Given the description of an element on the screen output the (x, y) to click on. 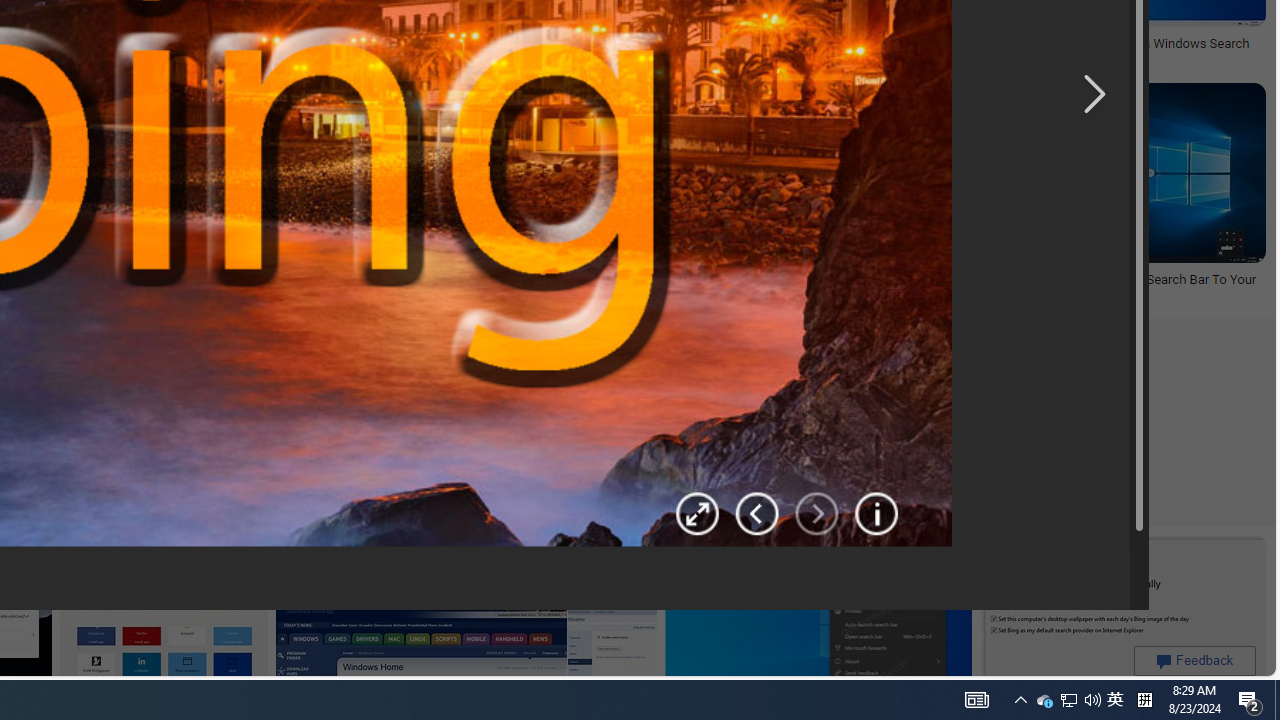
How to install Bing with ChatGPT as an app on Windows 11 (779, 43)
How to Use Bing Visual Search on Windows Search Bar (1106, 52)
Image result for Bing Search Bar Install (1122, 623)
